Given the description of an element on the screen output the (x, y) to click on. 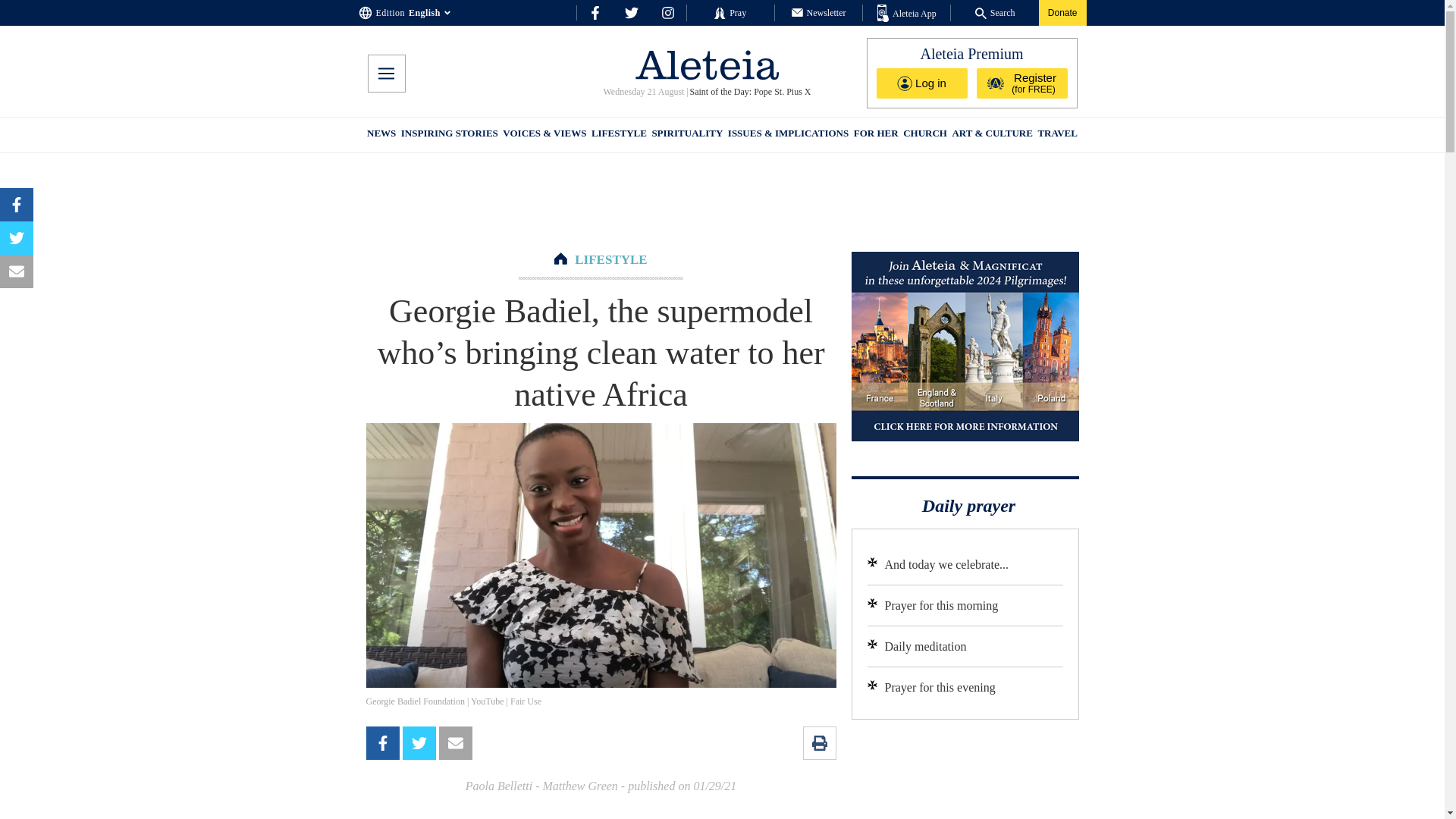
social-tw-top-row (631, 12)
Newsletter (818, 12)
LIFESTYLE (610, 259)
TRAVEL (1056, 134)
Saint of the Day: Pope St. Pius X (749, 91)
Paola Belletti (498, 785)
social-fb-top-row (595, 12)
Matthew Green (579, 785)
Search (994, 12)
SPIRITUALITY (686, 134)
